Given the description of an element on the screen output the (x, y) to click on. 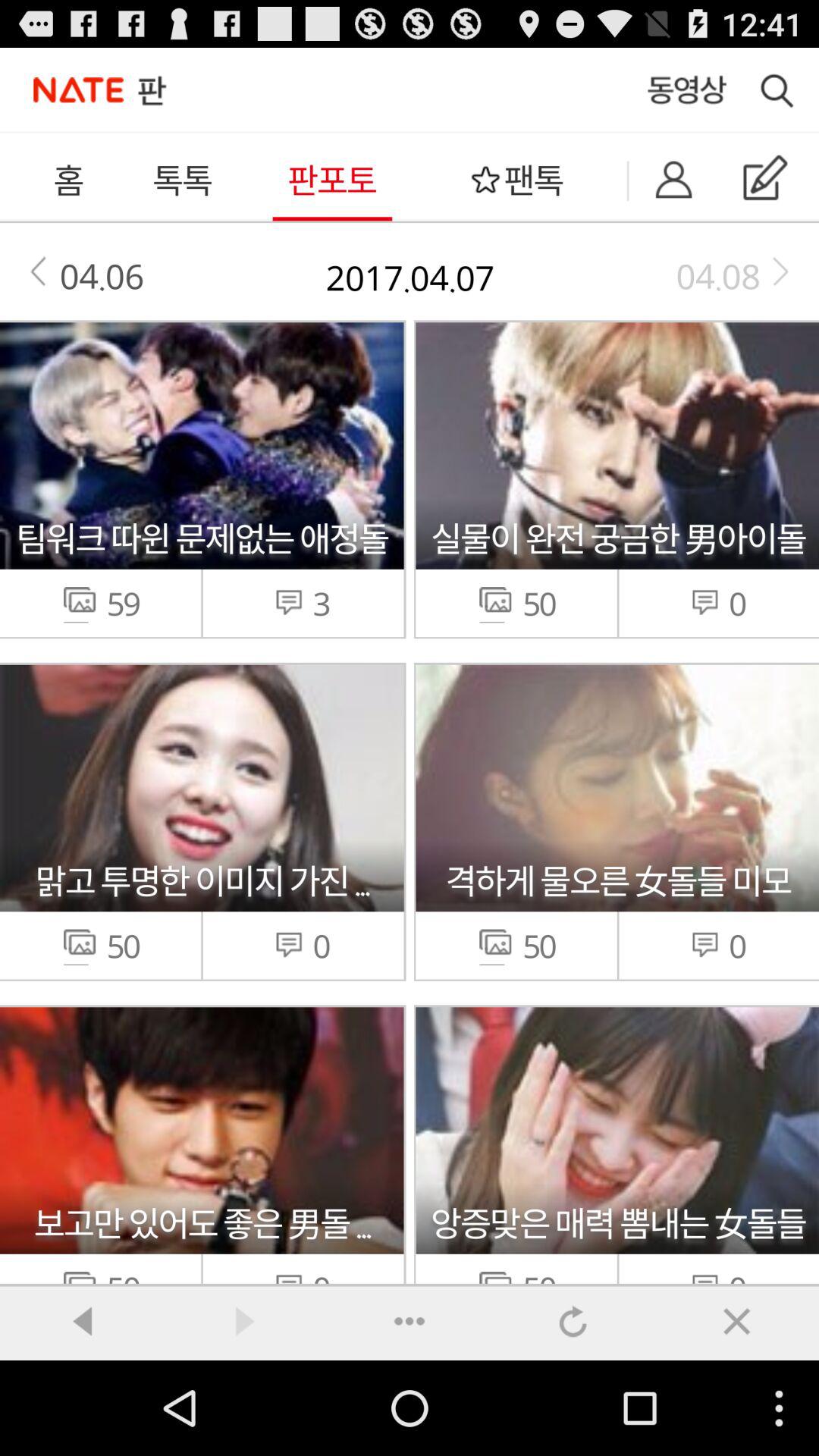
back ward (81, 1320)
